Given the description of an element on the screen output the (x, y) to click on. 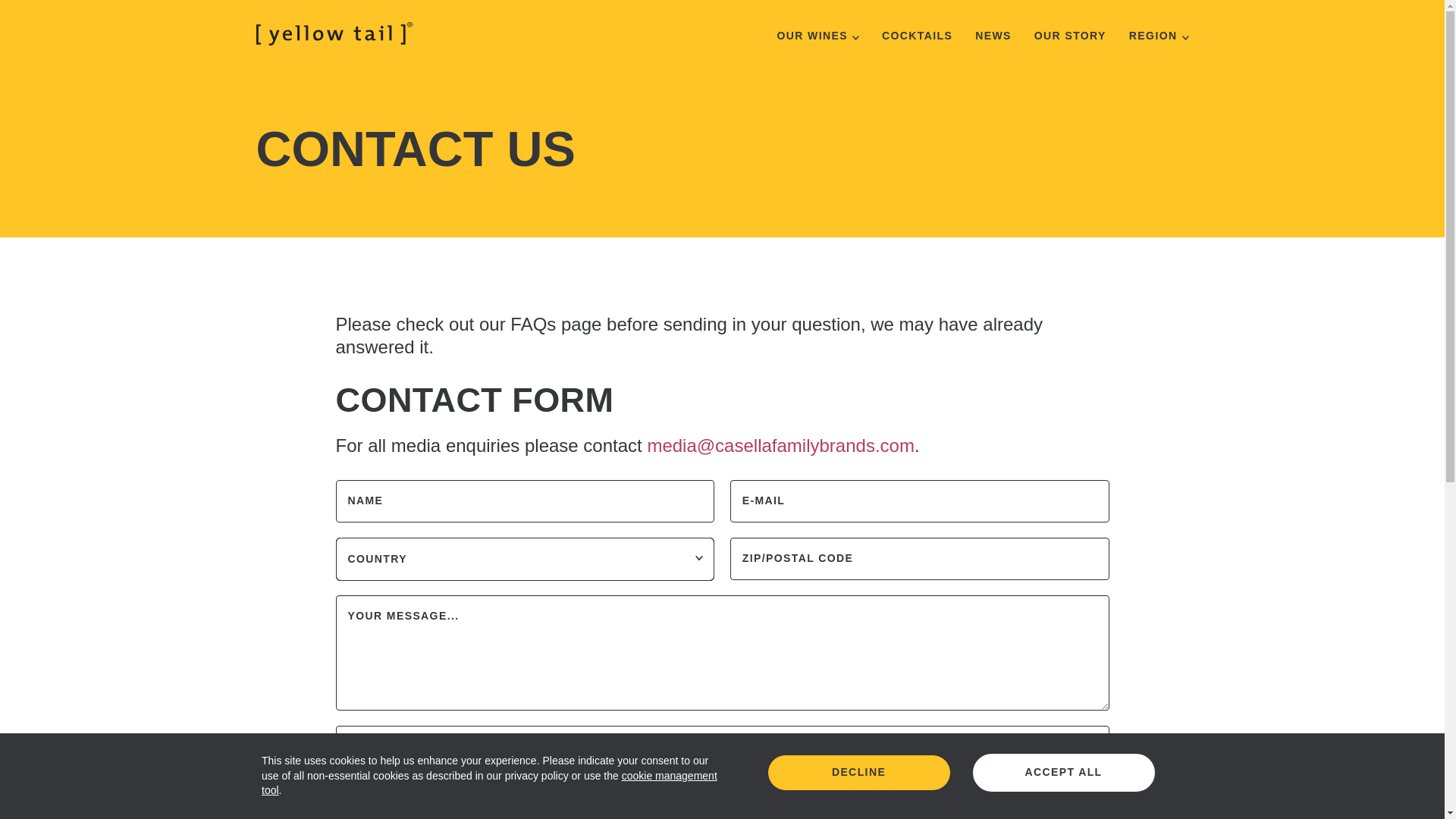
OUR WINES (817, 35)
cookie management tool (489, 782)
ACCEPT ALL (1063, 772)
DECLINE (858, 772)
REGION (1159, 35)
COUNTRY (524, 557)
OUR STORY (1069, 35)
NEWS (993, 35)
COCKTAILS (917, 35)
